Given the description of an element on the screen output the (x, y) to click on. 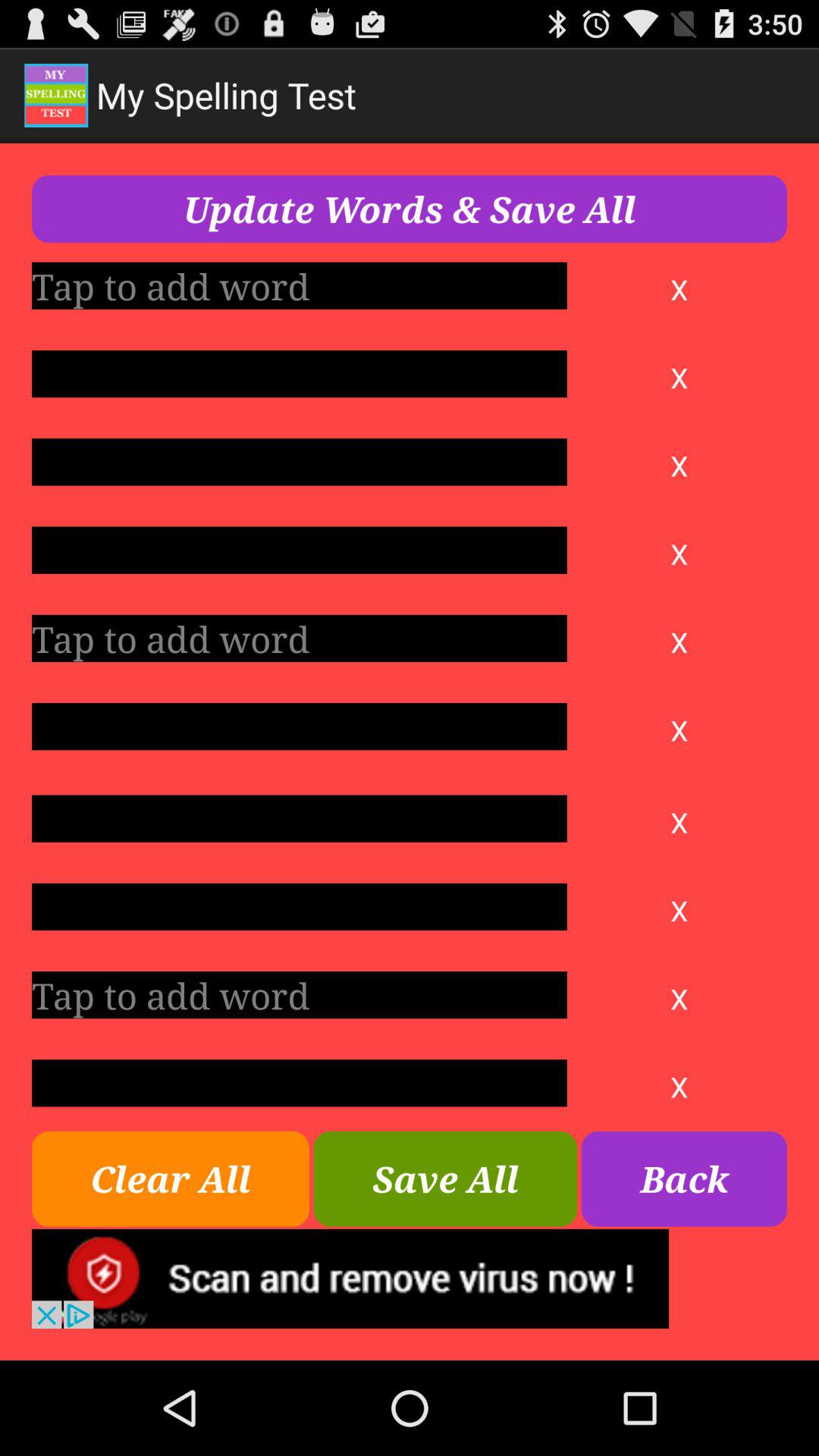
select one box (299, 818)
